Given the description of an element on the screen output the (x, y) to click on. 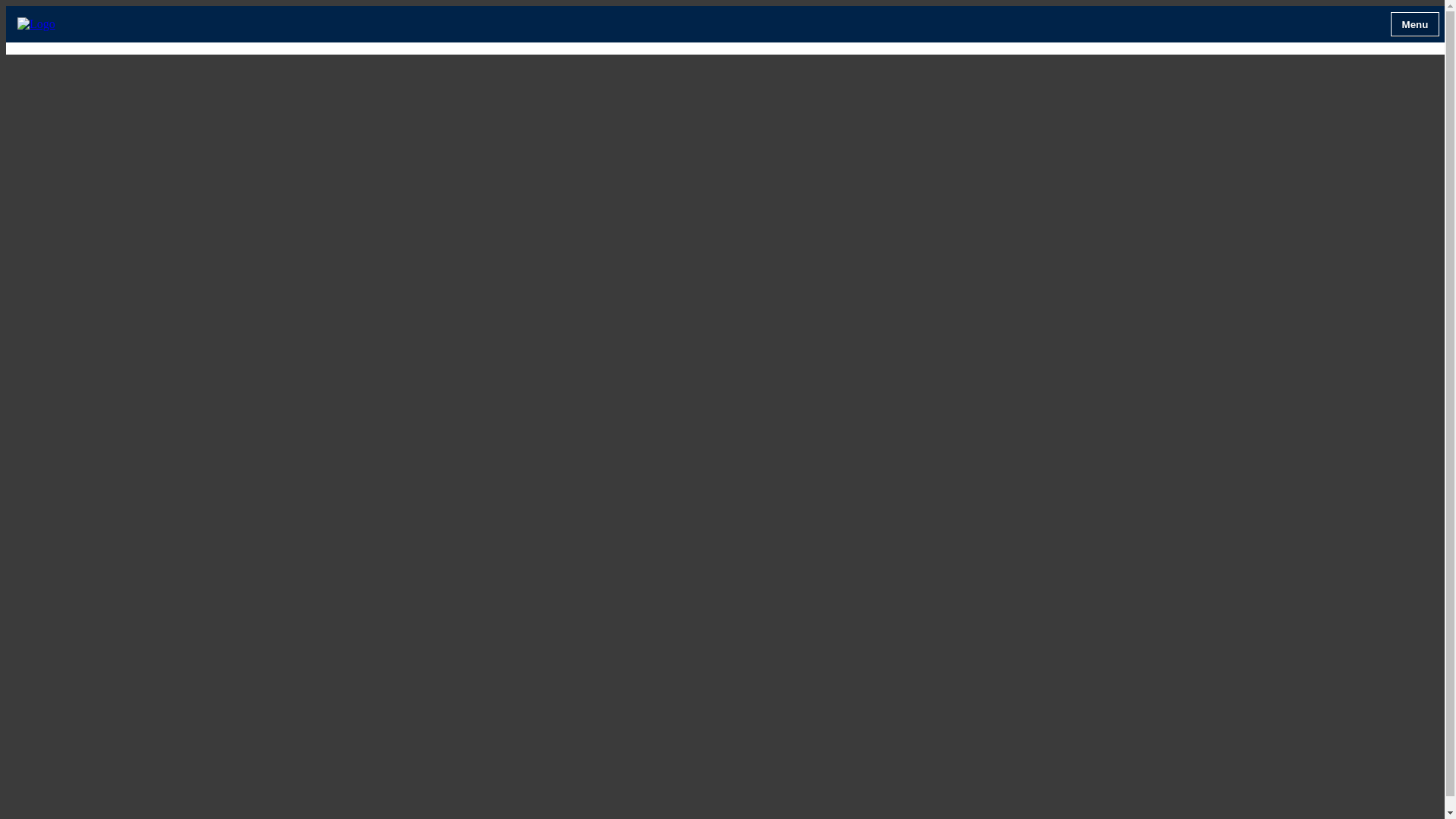
Menu (1414, 24)
